Given the description of an element on the screen output the (x, y) to click on. 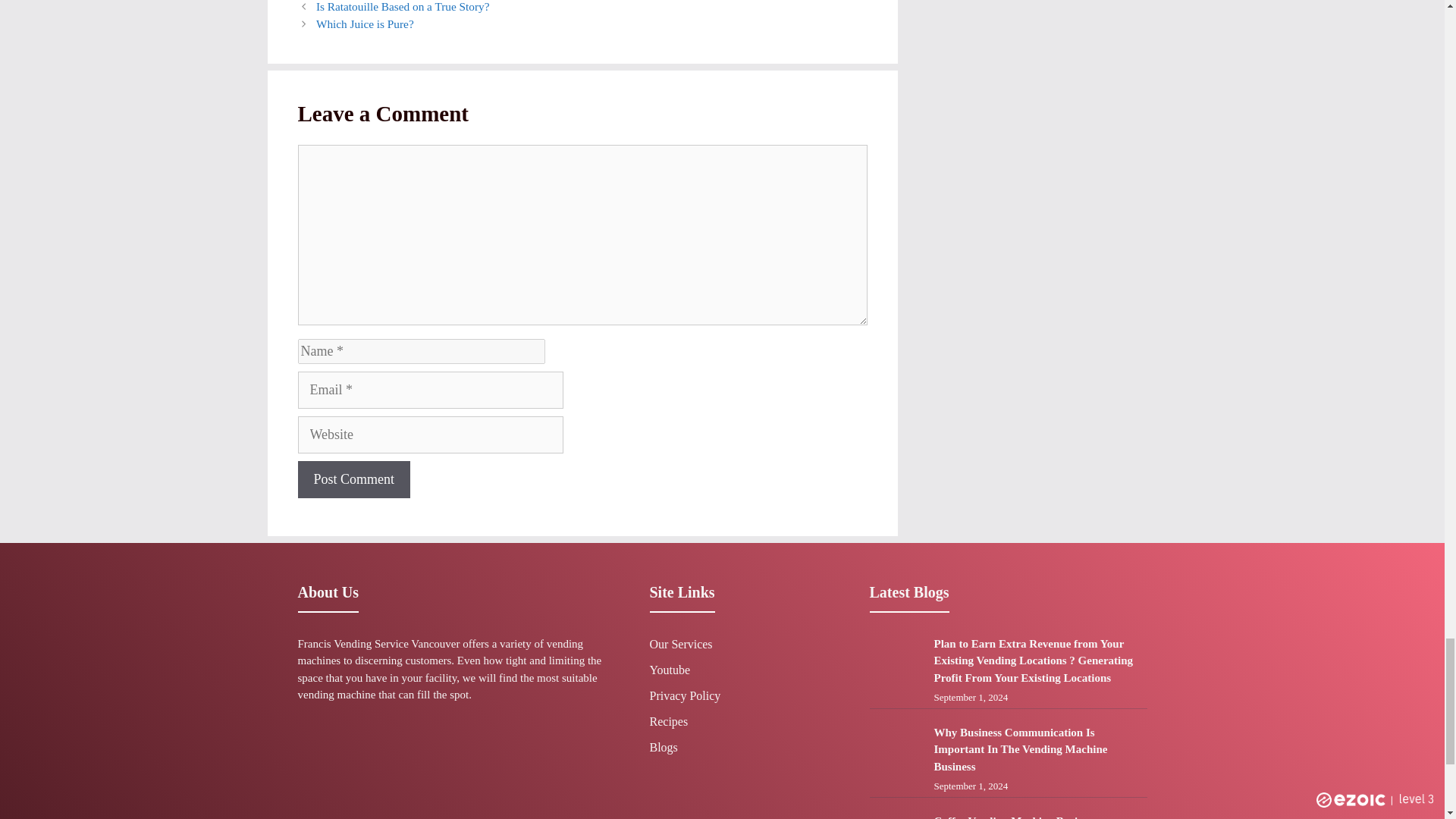
Post Comment (353, 479)
Post Comment (353, 479)
Which Juice is Pure? (364, 23)
Is Ratatouille Based on a True Story? (402, 6)
